Given the description of an element on the screen output the (x, y) to click on. 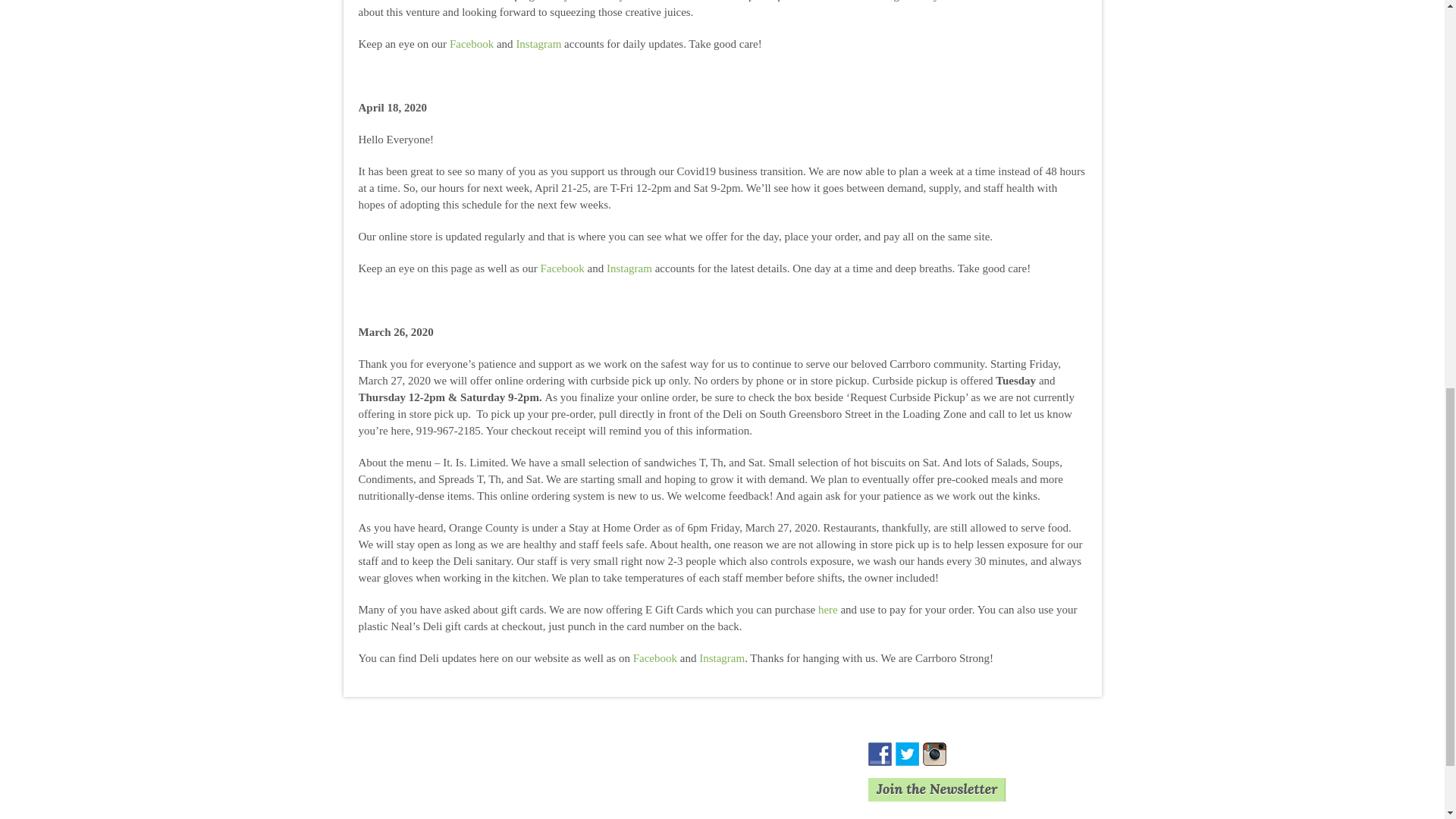
here (828, 610)
Instagram (721, 658)
Facebook (655, 658)
Facebook (471, 44)
Instagram (537, 44)
Facebook (561, 269)
Carrboro United (847, 1)
Map It (439, 800)
Top (1419, 11)
Instagram (629, 269)
Online Store (741, 800)
